Given the description of an element on the screen output the (x, y) to click on. 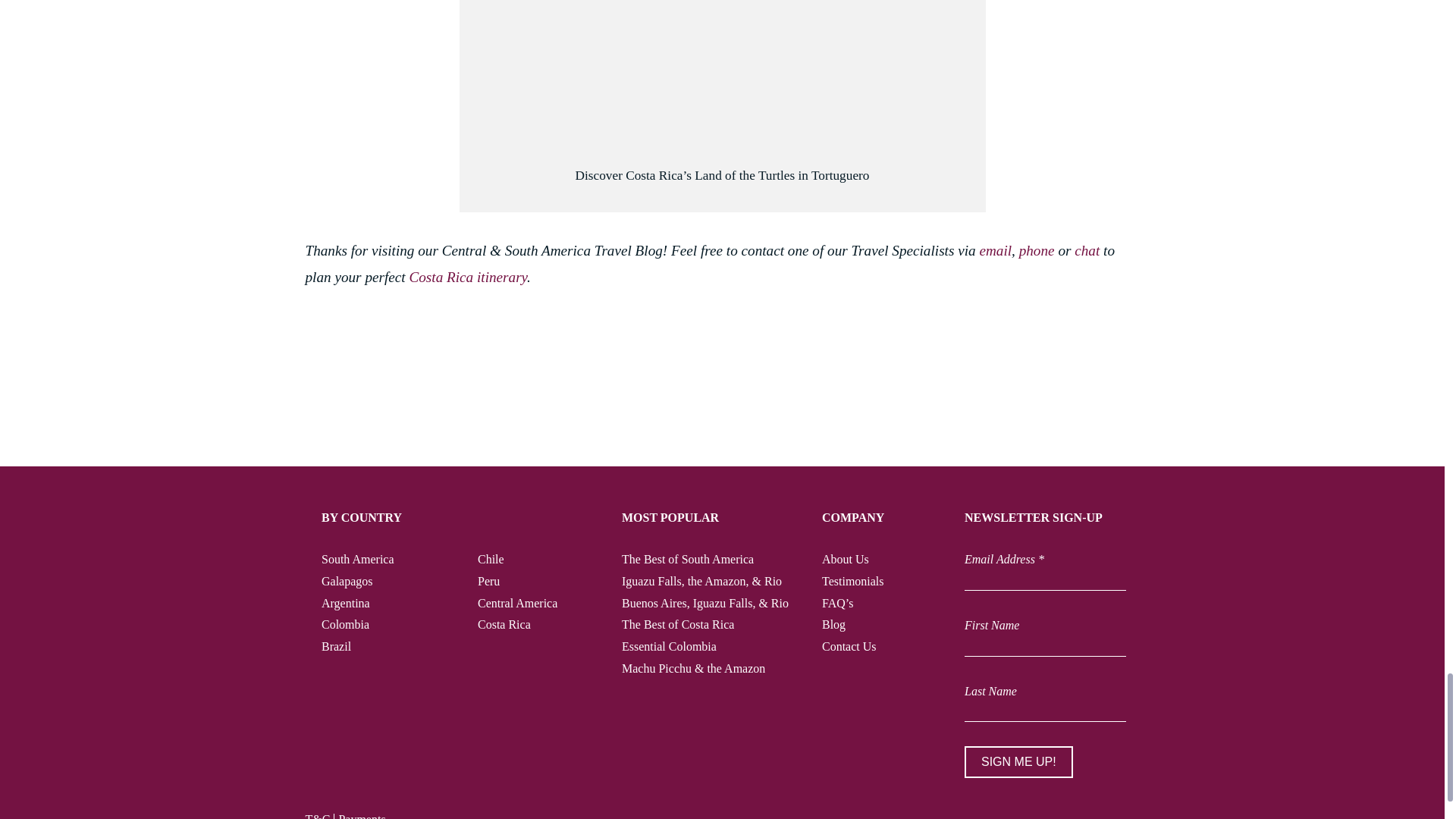
Class Adventure Travel phone (1036, 250)
Costa Rica Tours (468, 277)
Class Adventure Travel contact form (994, 250)
Sign Me Up! (1018, 762)
Class Adventure Travel chat (1086, 250)
